Given the description of an element on the screen output the (x, y) to click on. 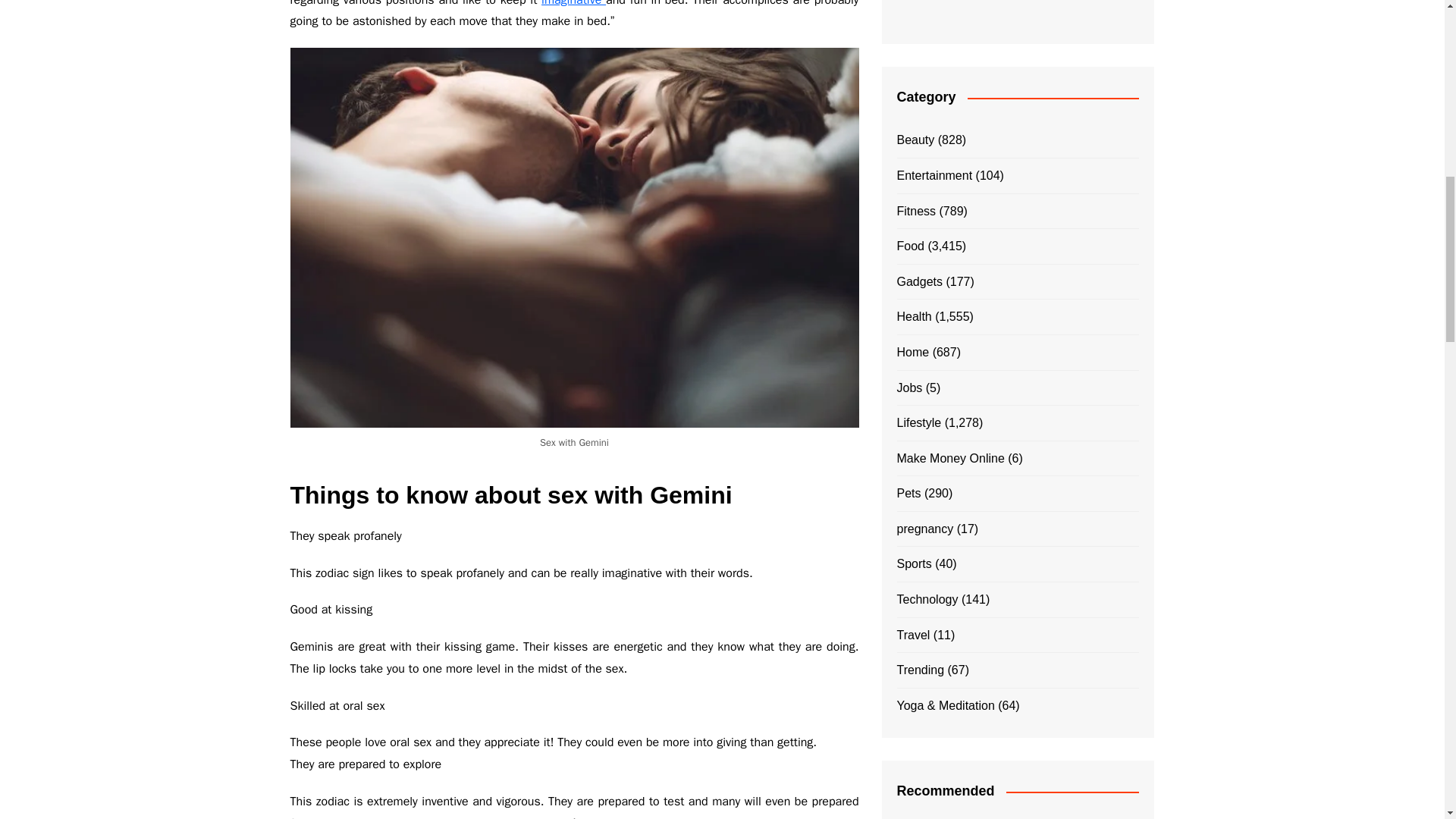
imaginative (573, 3)
